Given the description of an element on the screen output the (x, y) to click on. 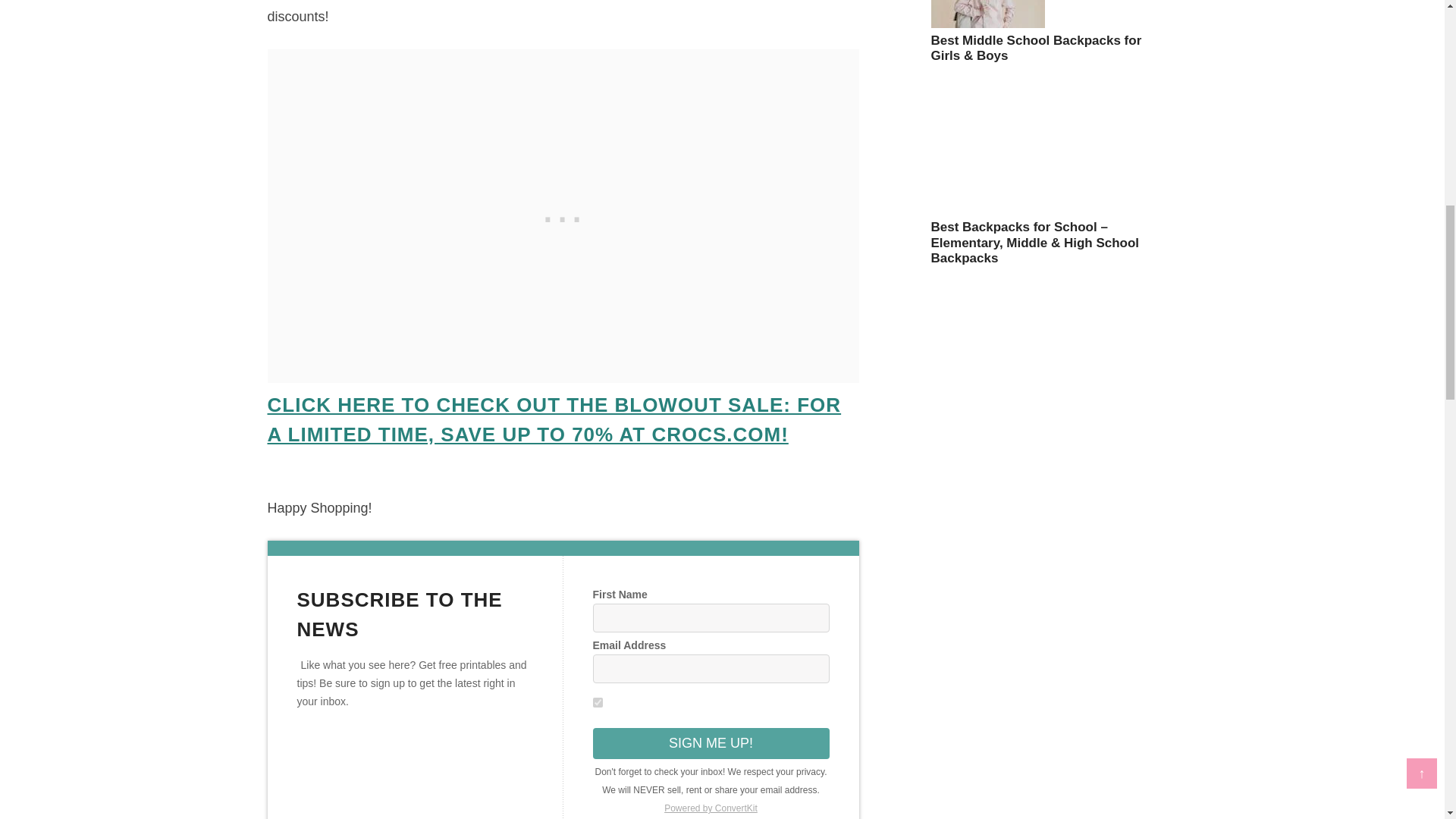
SIGN ME UP! (710, 743)
Powered by ConvertKit (710, 808)
on (597, 702)
